Given the description of an element on the screen output the (x, y) to click on. 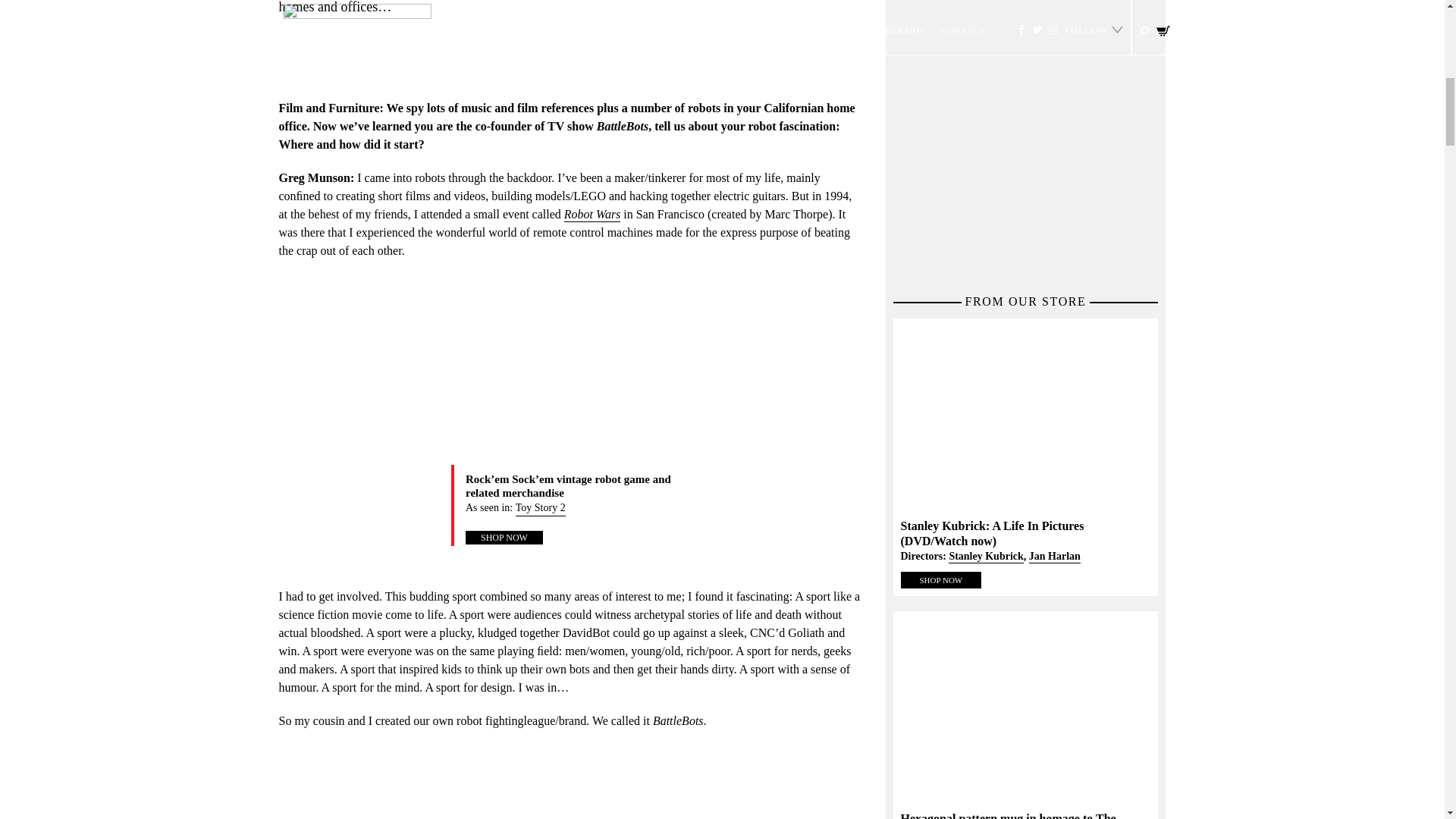
Toy Story 2 (540, 507)
Robot Wars (592, 214)
This is BattleBots! (571, 782)
SHOP NOW (504, 537)
